Given the description of an element on the screen output the (x, y) to click on. 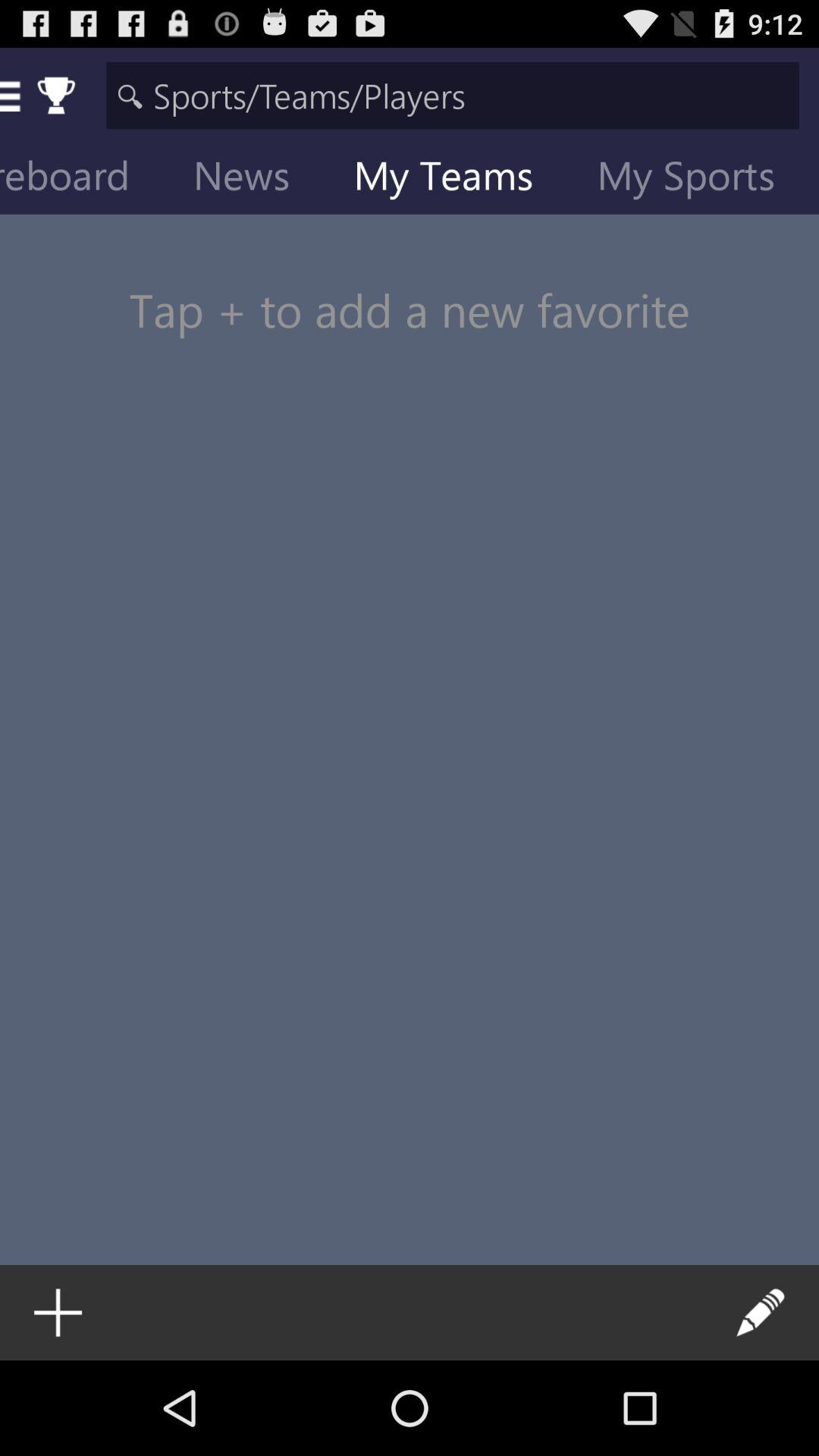
choose the item to the right of the news icon (455, 178)
